Given the description of an element on the screen output the (x, y) to click on. 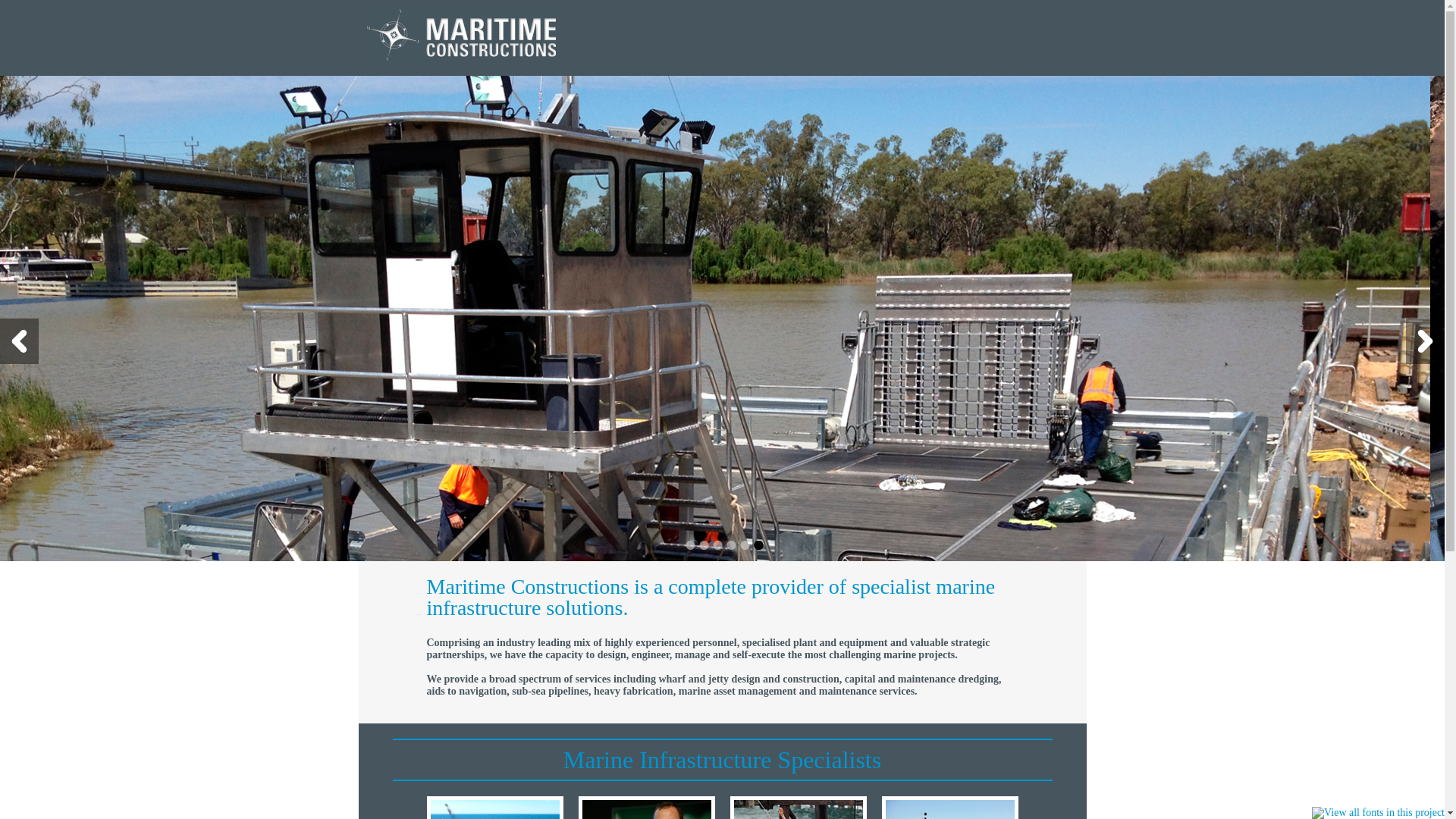
ABOUT Element type: text (601, 108)
HOME Element type: text (548, 108)
REMEDIATION Element type: text (1034, 108)
DREDGING
AND PORT
DEVELOPMENT Element type: text (773, 108)
MARINE
CONSTRUCTION Element type: text (677, 108)
HARBOURS
AND MARINE Element type: text (861, 108)
FABRICATION Element type: text (945, 108)
